Given the description of an element on the screen output the (x, y) to click on. 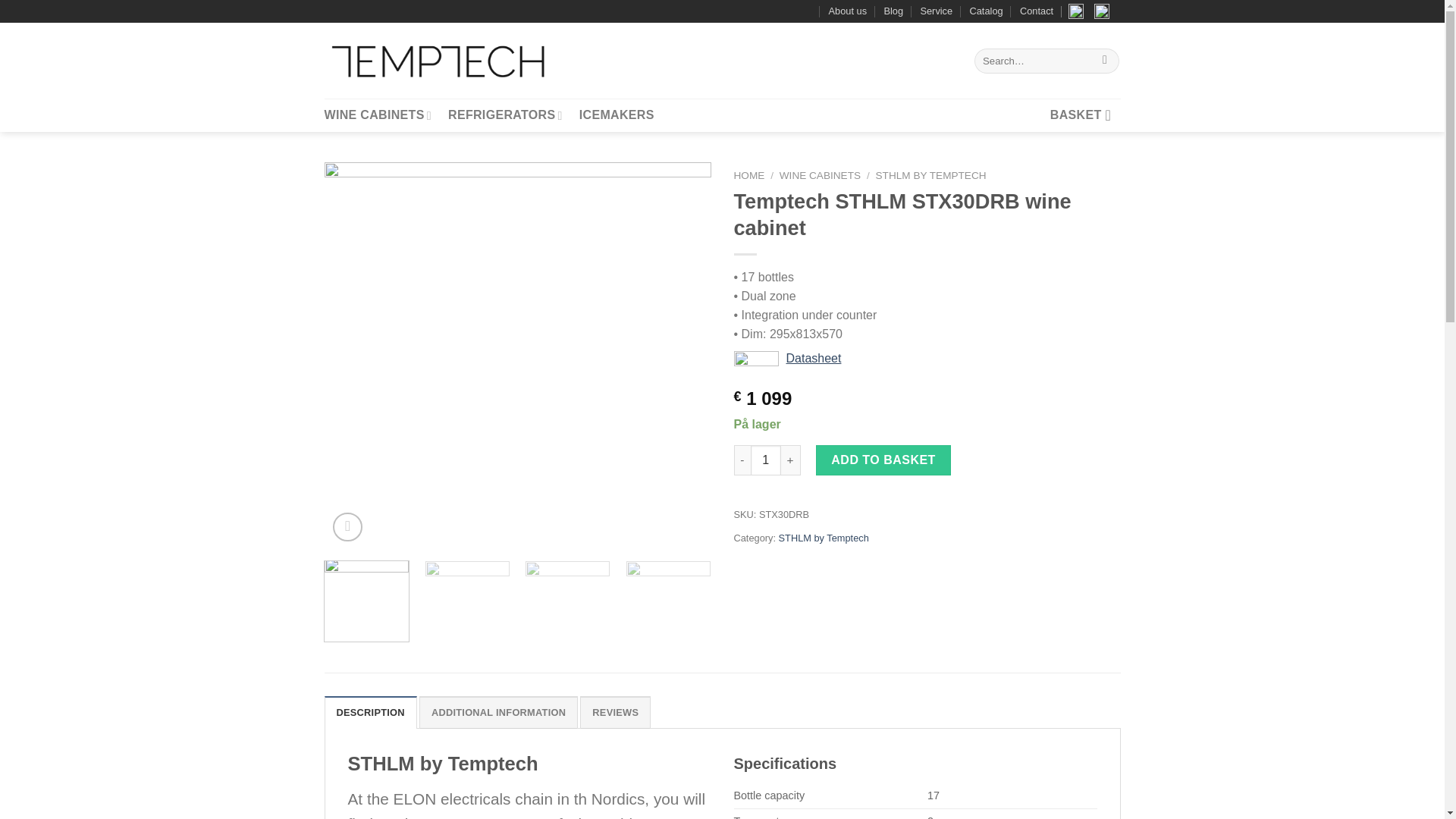
Qty (765, 460)
REFRIGERATORS (505, 115)
ICEMAKERS (616, 114)
Catalog (986, 11)
Contact (1036, 11)
Zoom (347, 527)
Basket (1085, 114)
Search (1105, 61)
